Given the description of an element on the screen output the (x, y) to click on. 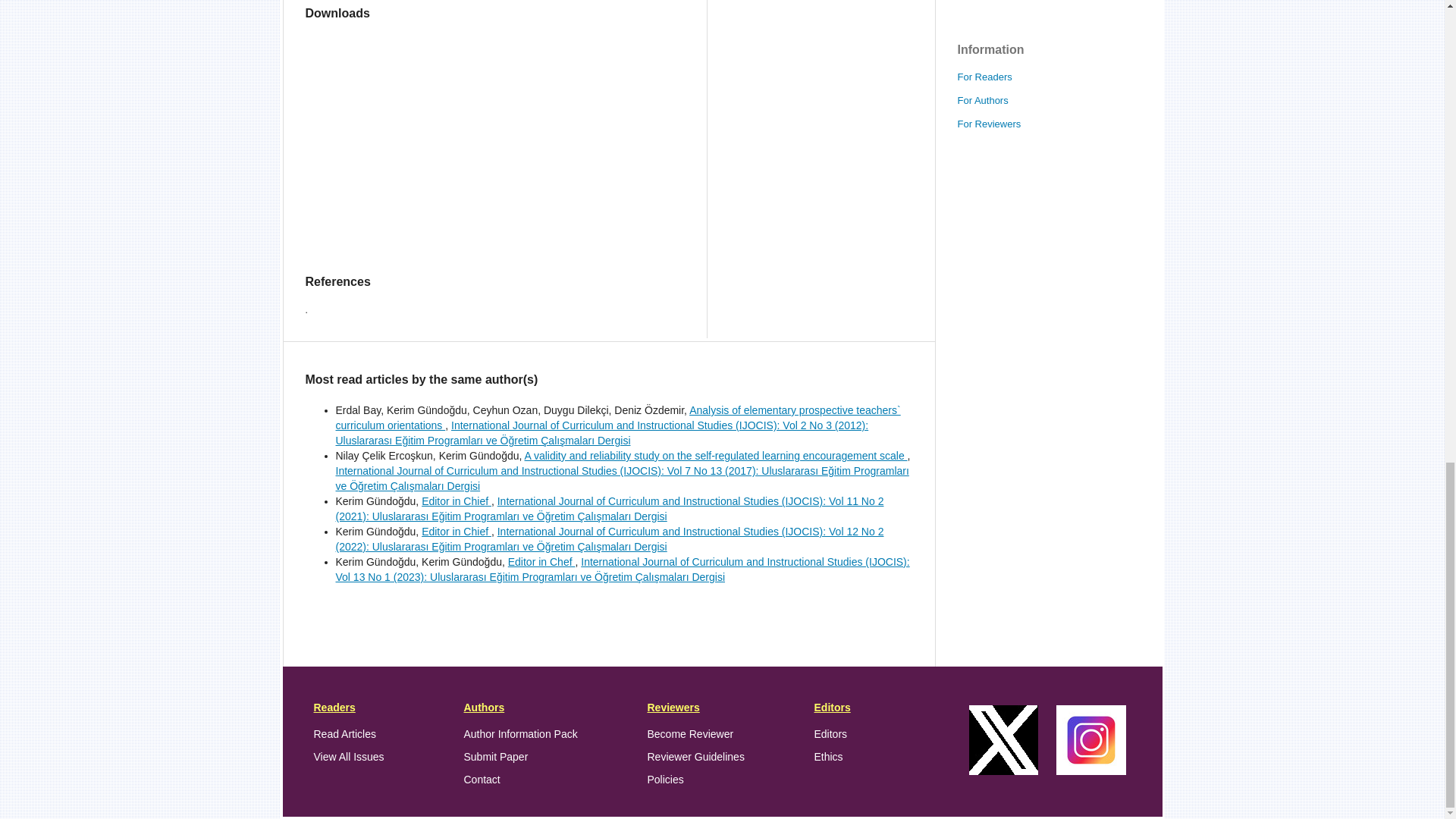
Instagram (1091, 770)
Twitter (1003, 770)
